Given the description of an element on the screen output the (x, y) to click on. 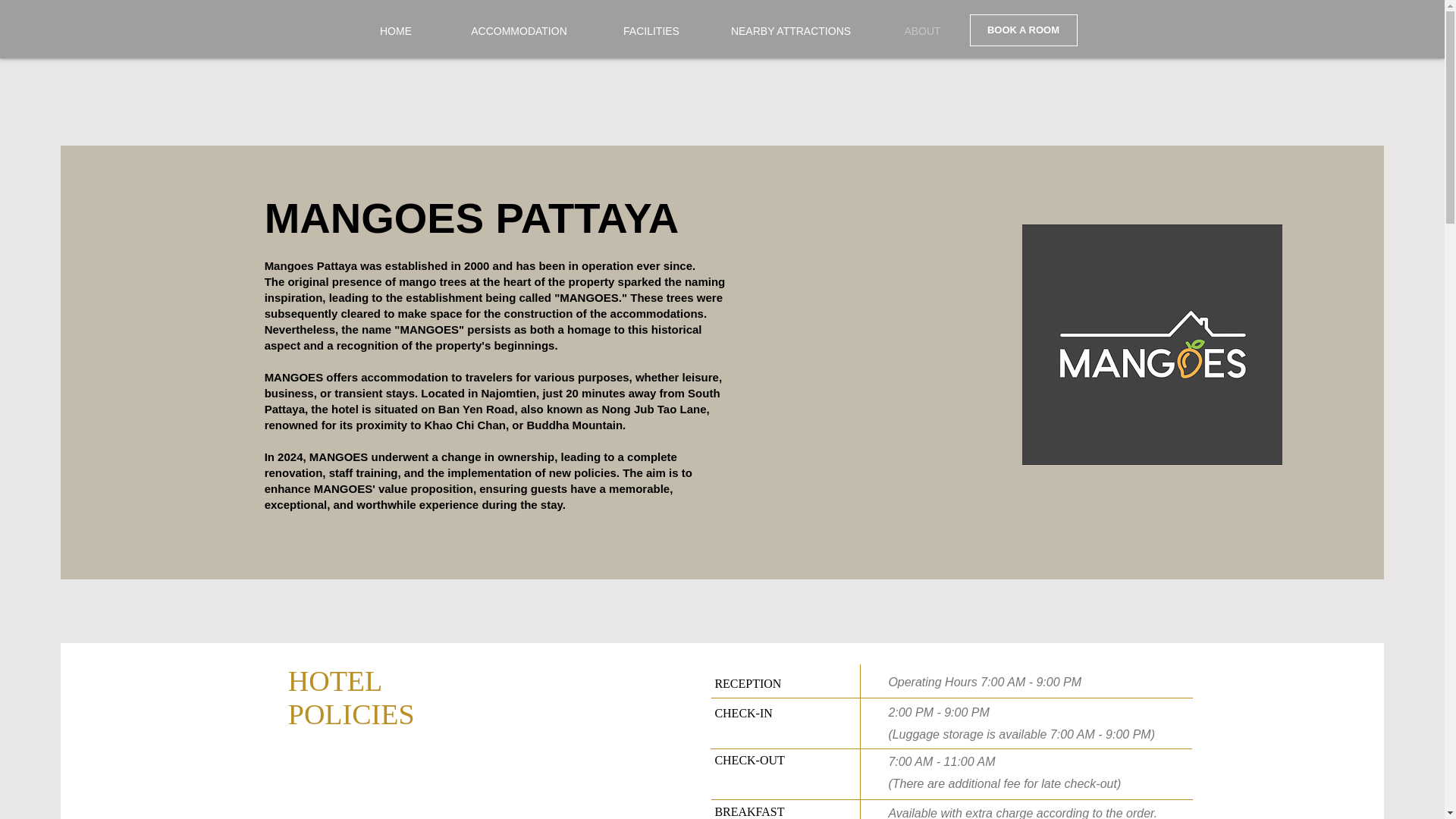
FACILITIES (651, 30)
ACCOMMODATION (518, 30)
NEARBY ATTRACTIONS (790, 30)
ABOUT (922, 30)
HOME (395, 30)
BOOK A ROOM (1023, 29)
